Given the description of an element on the screen output the (x, y) to click on. 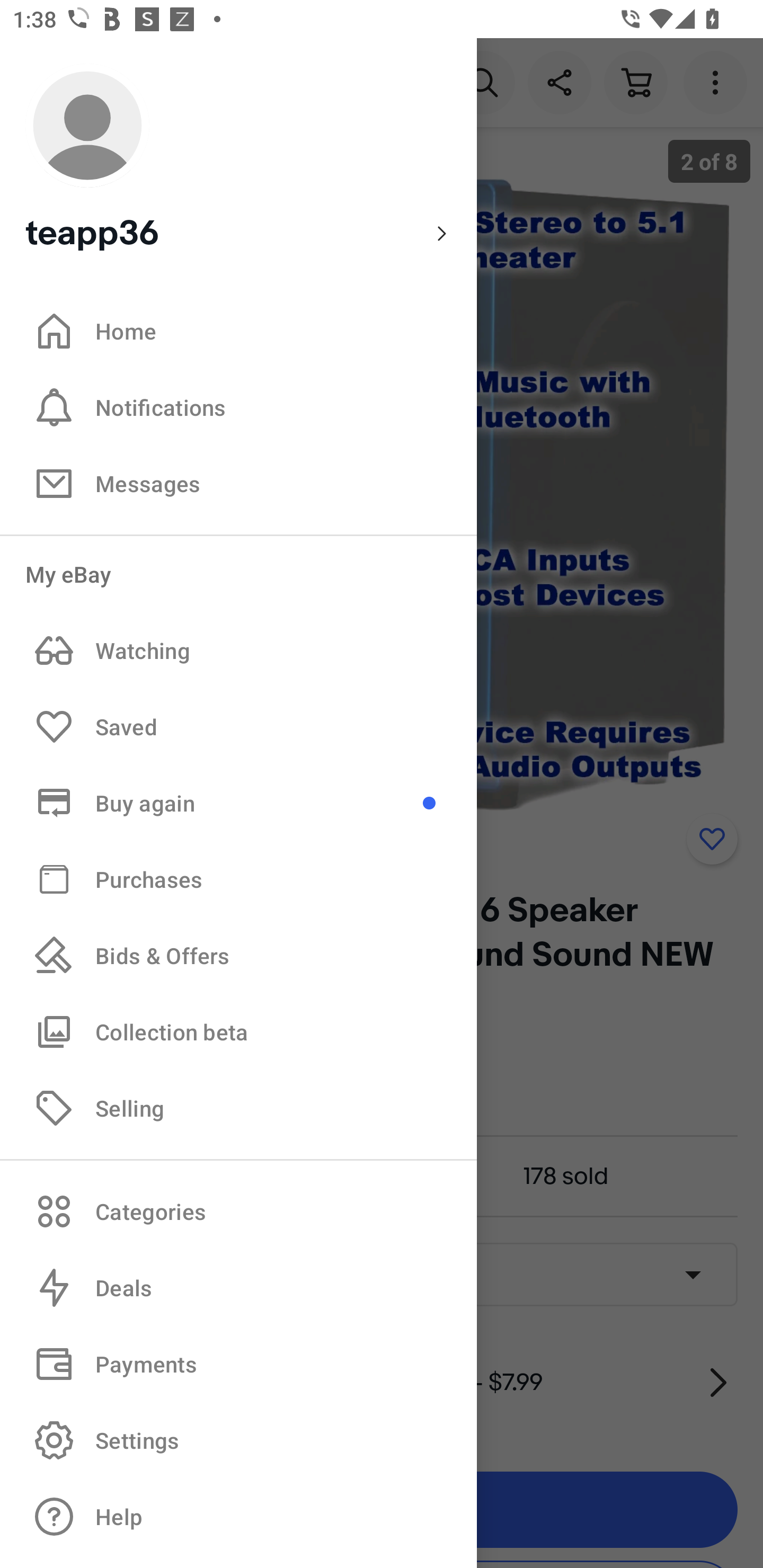
teapp36 (238, 158)
Home (238, 330)
Notifications (238, 406)
Messages (238, 483)
Watching (238, 650)
Saved (238, 726)
Buy again Is new feature (238, 802)
Purchases (238, 878)
Bids & Offers (238, 955)
Collection beta (238, 1031)
Selling (238, 1107)
Categories (238, 1210)
Deals (238, 1287)
Payments (238, 1363)
Settings (238, 1439)
Help (238, 1516)
